Given the description of an element on the screen output the (x, y) to click on. 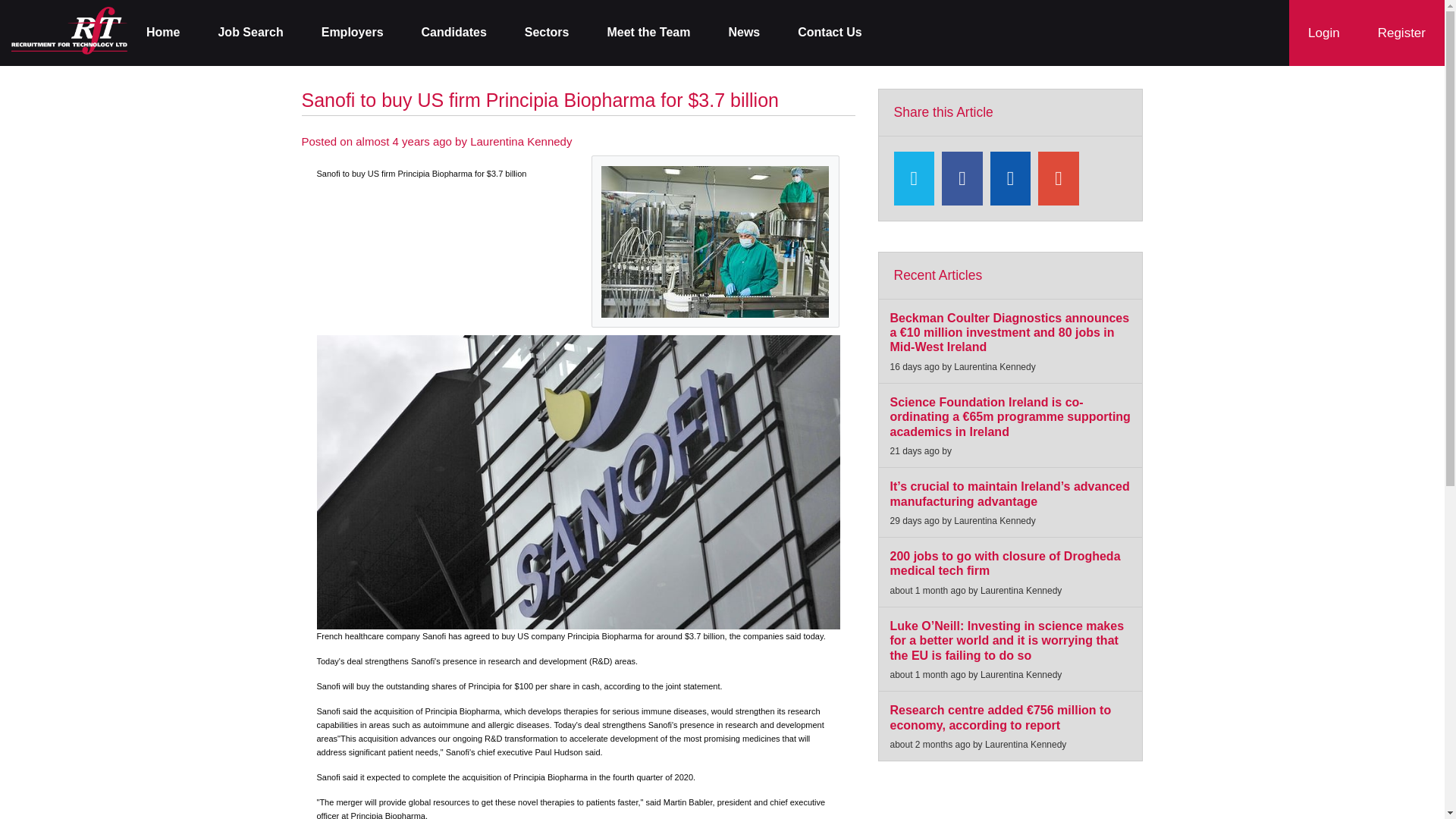
Go to the Homepage (69, 30)
Employers (352, 32)
Meet the Team (648, 32)
Job Search (249, 32)
Sectors (546, 32)
Home (163, 32)
Login (1323, 33)
RFT Group (69, 30)
News (743, 32)
Candidates (454, 32)
